Given the description of an element on the screen output the (x, y) to click on. 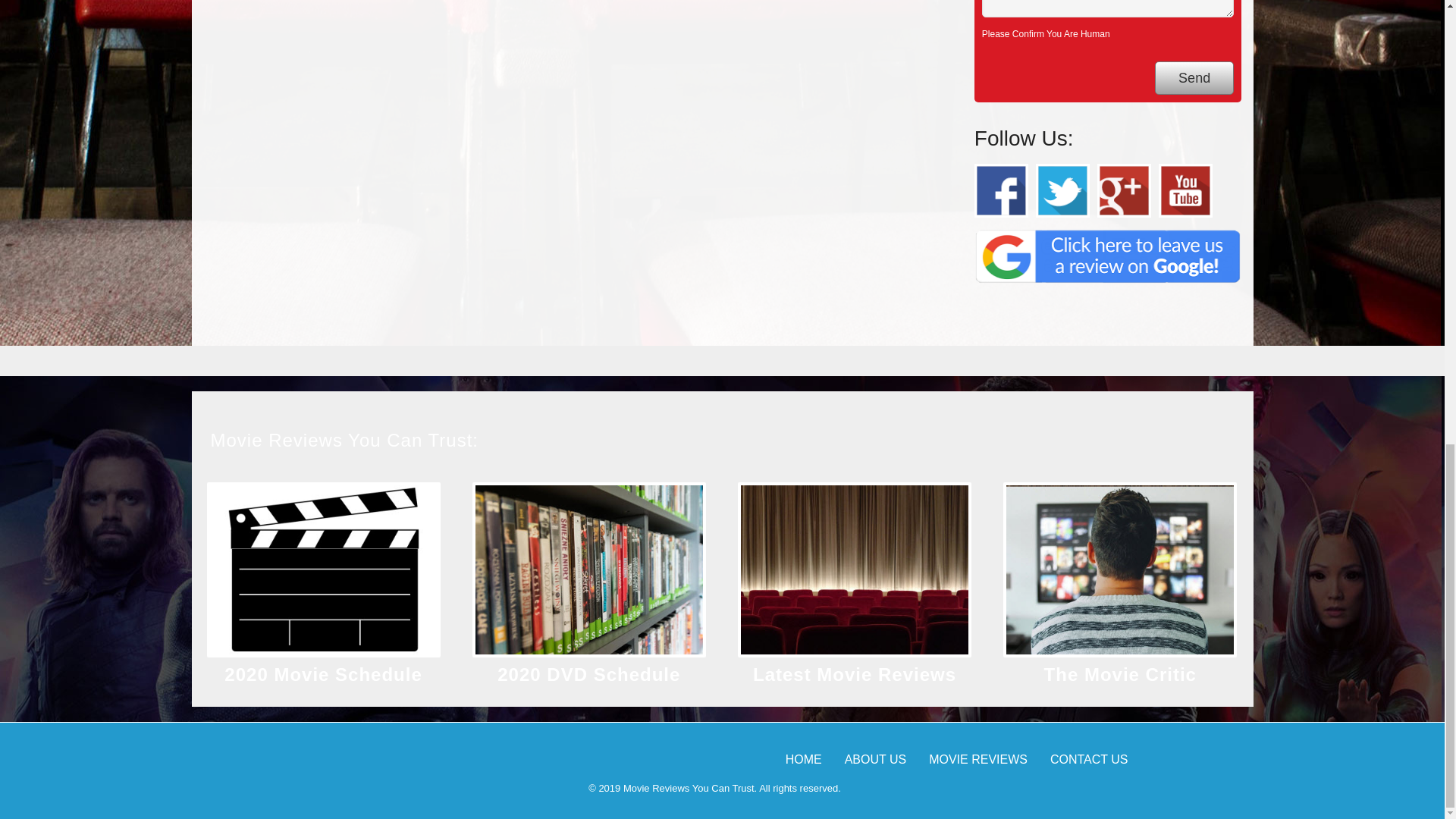
2020 DVD Schedule (588, 674)
Latest Movie Reviews (854, 674)
Send (1193, 78)
ABOUT US (875, 758)
2020 Movie Schedule (323, 674)
CONTACT US (1088, 758)
The Movie Critic (1119, 674)
HOME (804, 758)
Send (1193, 78)
MOVIE REVIEWS (977, 758)
